Given the description of an element on the screen output the (x, y) to click on. 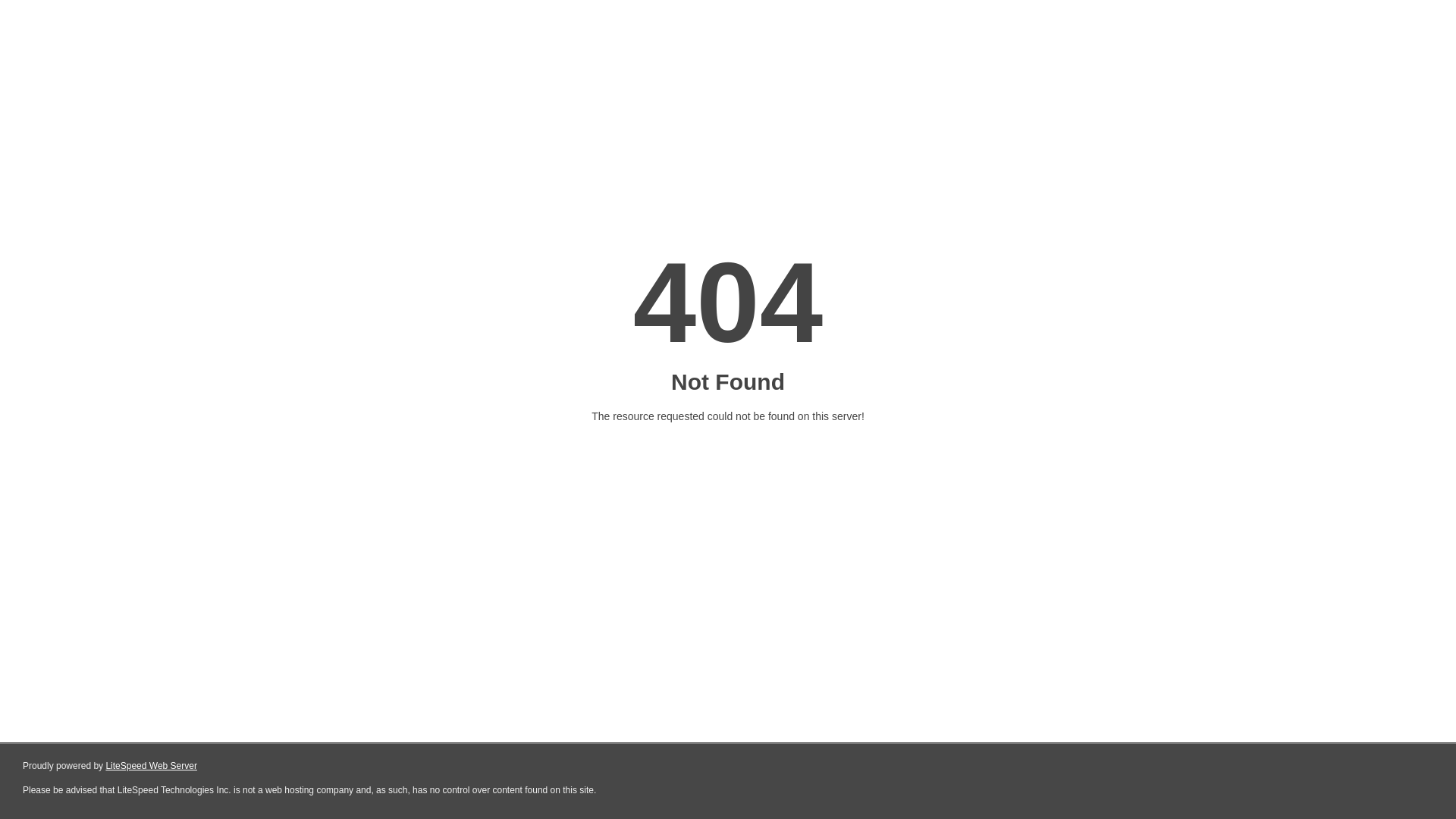
LiteSpeed Web Server Element type: text (151, 765)
